Given the description of an element on the screen output the (x, y) to click on. 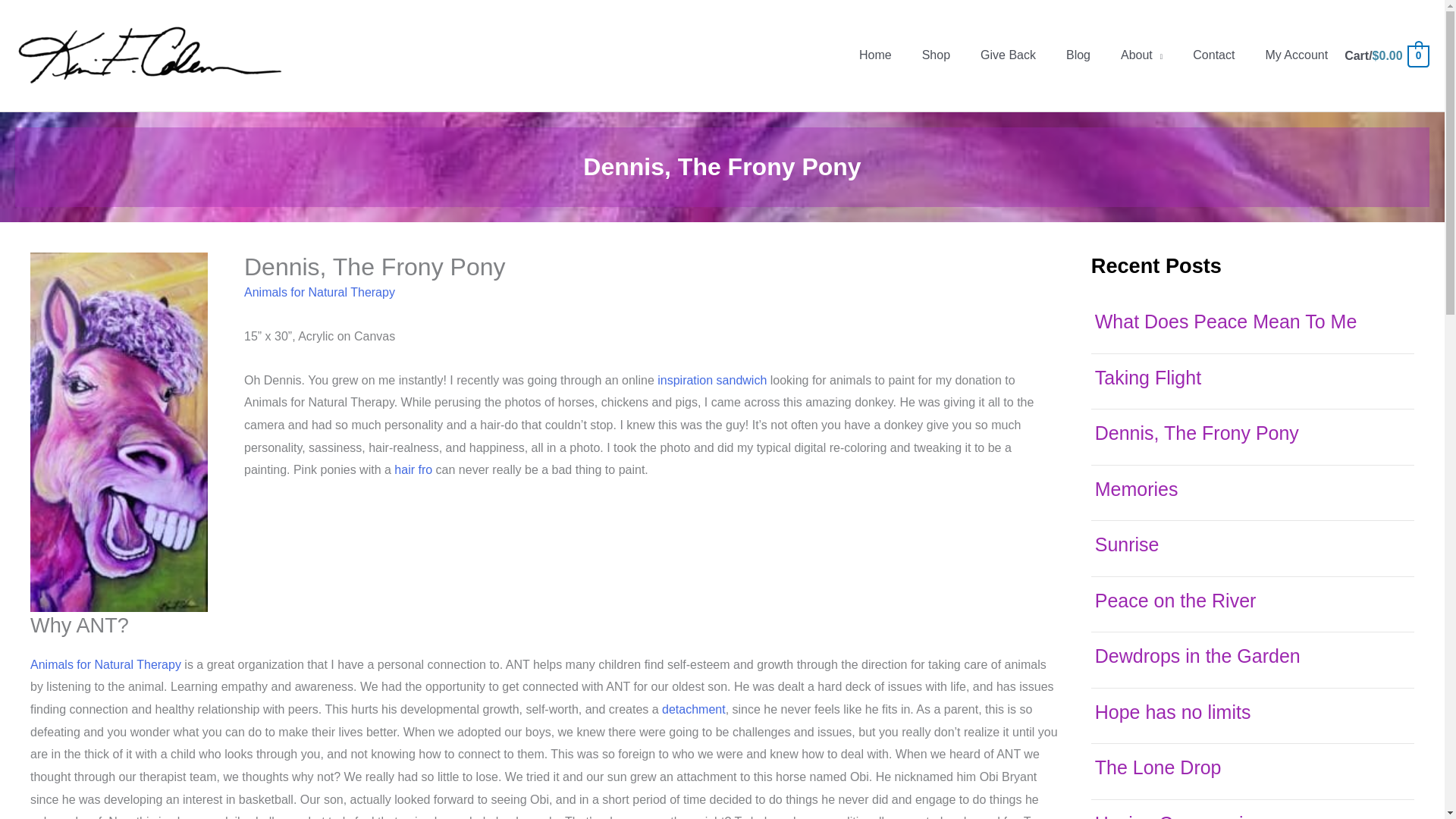
Hope has no limits (1172, 711)
What Does Peace Mean To Me (1225, 321)
Animals for Natural Therapy (319, 291)
Having Compassion (1179, 816)
Shop (936, 55)
Peace on the River (1175, 599)
Memories (1135, 488)
Taking Flight (1147, 377)
Give Back (1008, 55)
Sunrise (1126, 544)
